Given the description of an element on the screen output the (x, y) to click on. 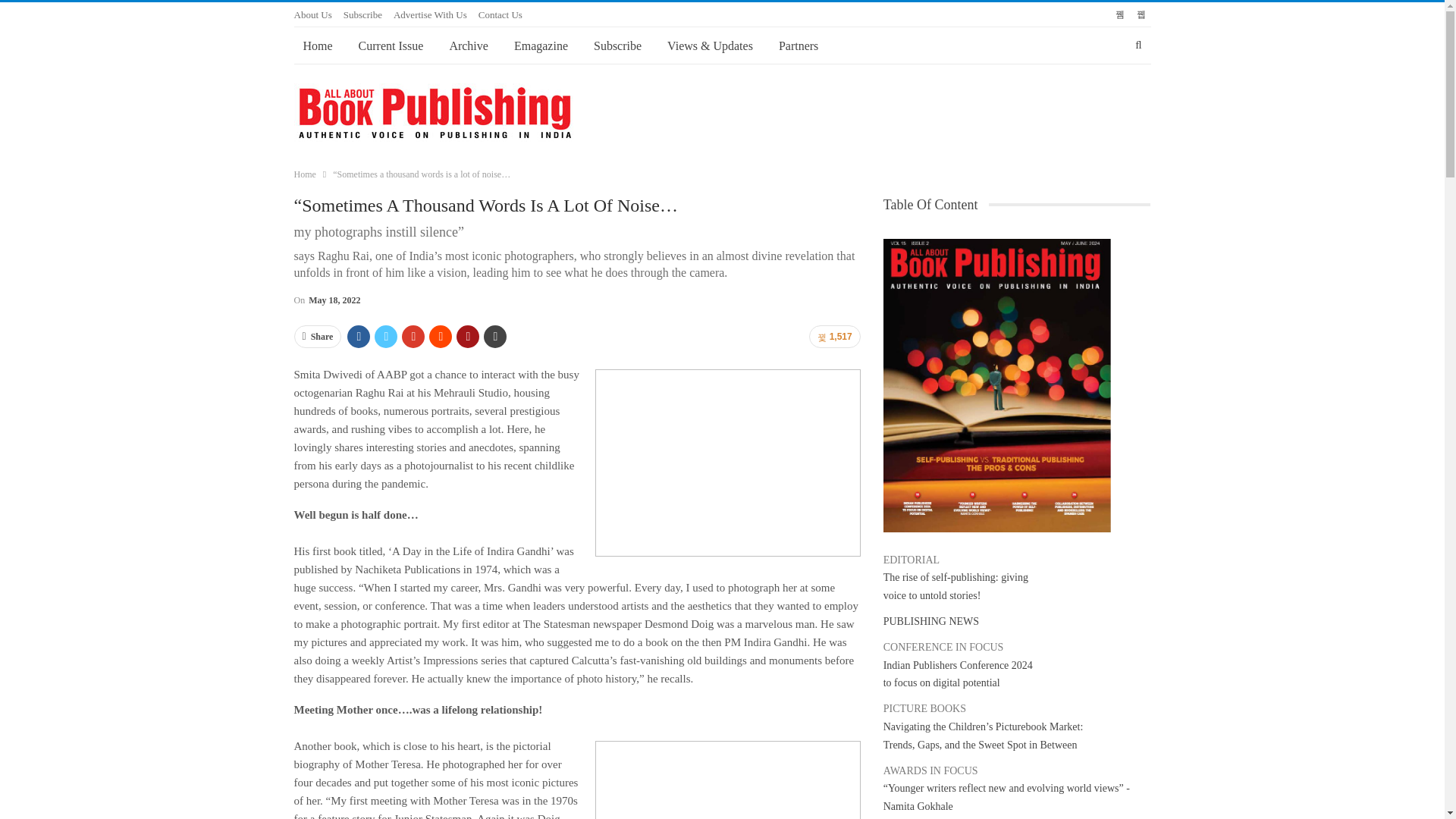
Subscribe (362, 14)
Home (318, 45)
Partners (798, 45)
Subscribe (617, 45)
Advertise With Us (430, 14)
Current Issue (390, 45)
Home (304, 174)
Emagazine (540, 45)
About Us (312, 14)
Contact Us (500, 14)
